Given the description of an element on the screen output the (x, y) to click on. 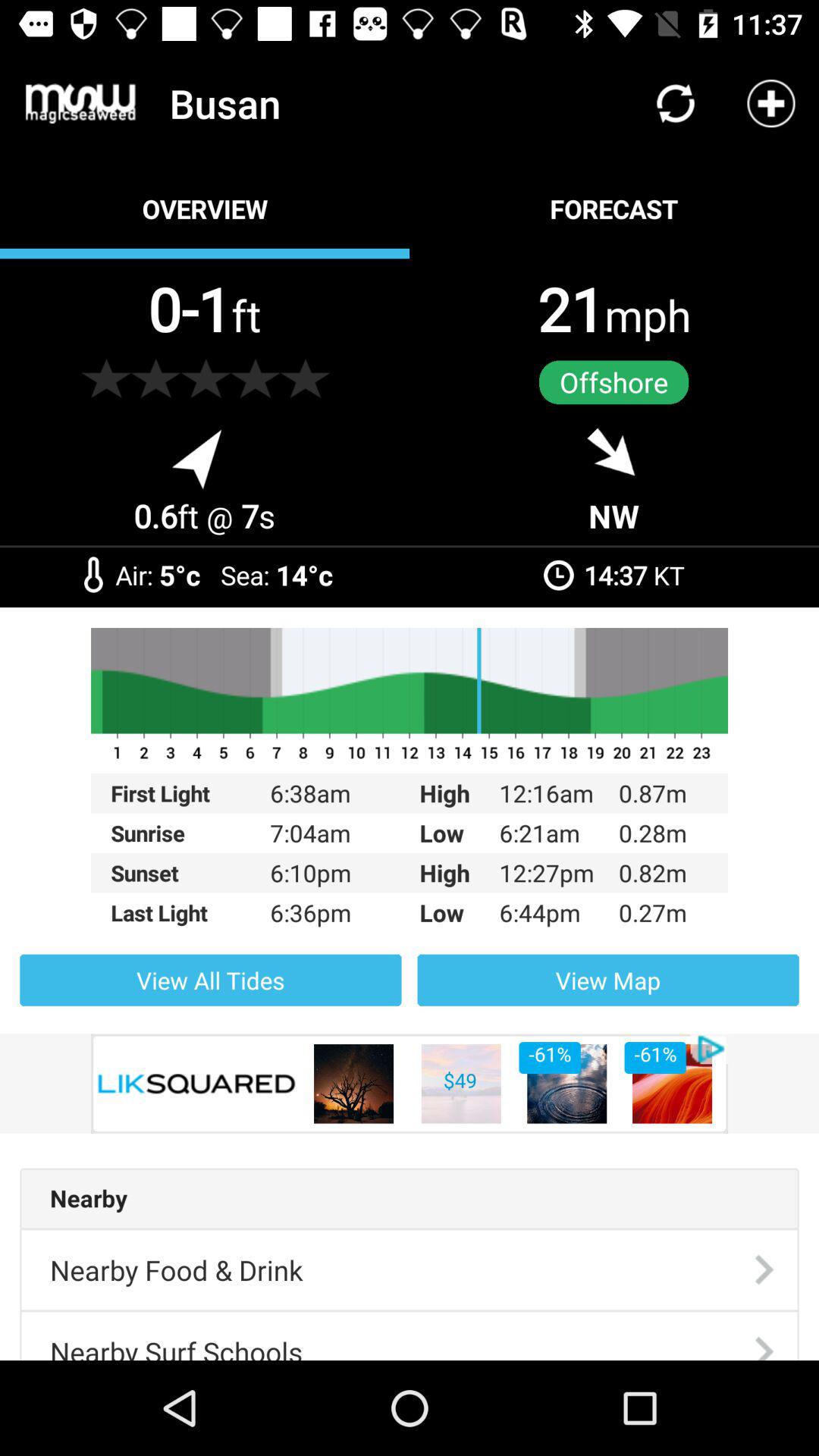
tap item below sunrise item (190, 872)
